Given the description of an element on the screen output the (x, y) to click on. 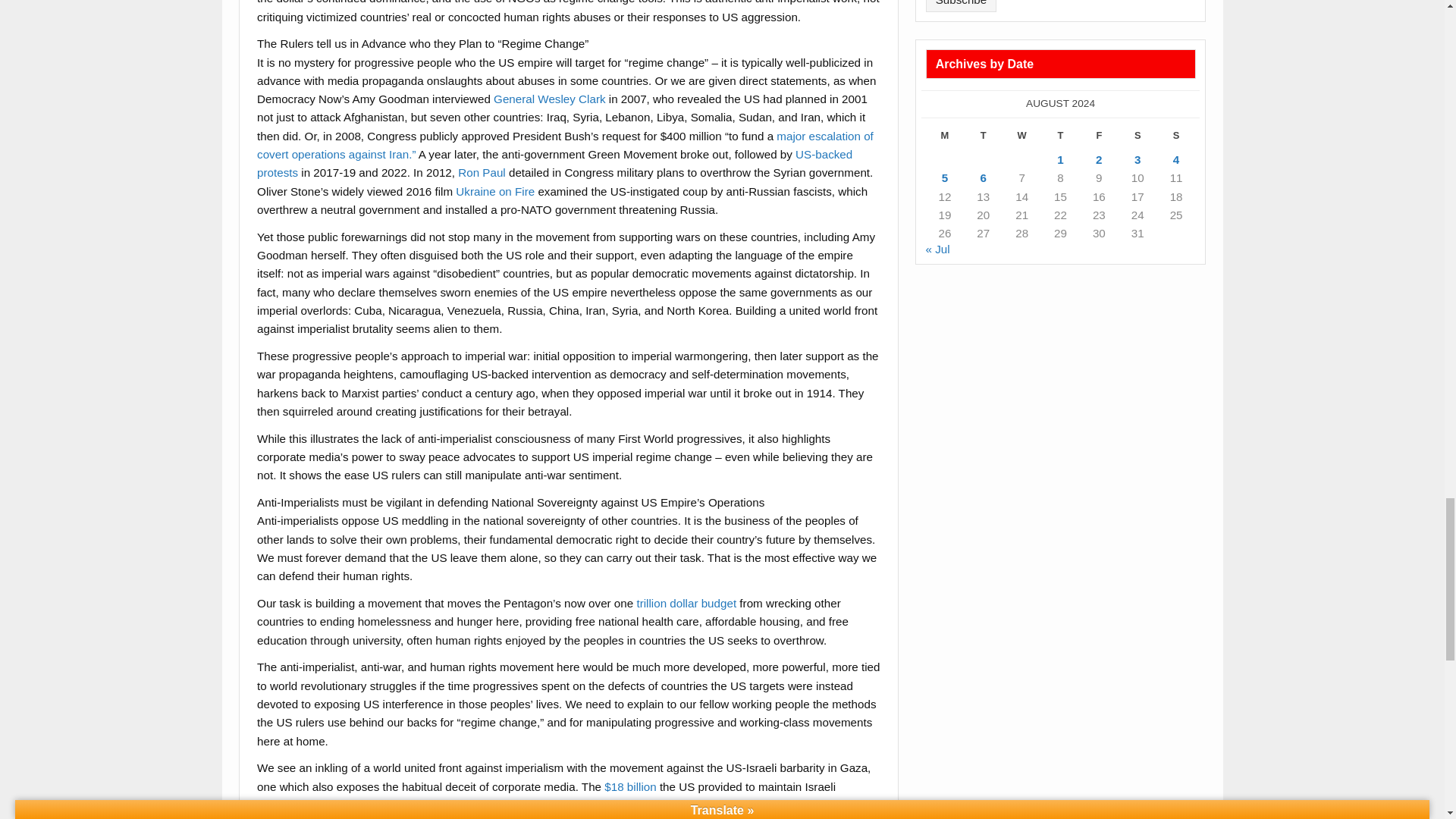
Monday (944, 138)
Wednesday (1022, 138)
Thursday (1060, 138)
Friday (1099, 138)
Subscribe (961, 6)
Tuesday (983, 138)
Saturday (1137, 138)
Sunday (1176, 138)
